Given the description of an element on the screen output the (x, y) to click on. 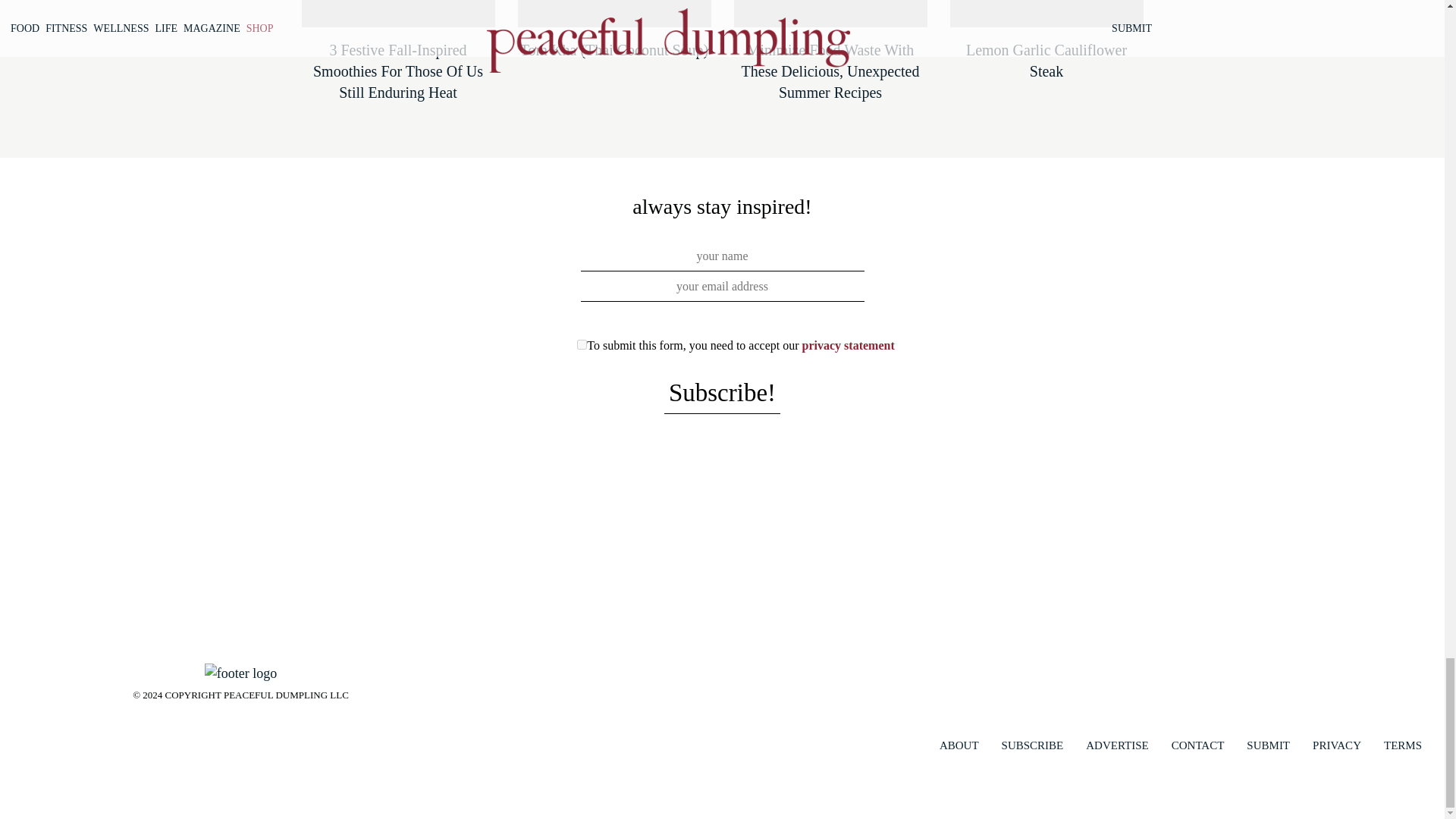
1 (581, 344)
Subscribe! (721, 393)
Peaceful Dumpling (240, 672)
